Given the description of an element on the screen output the (x, y) to click on. 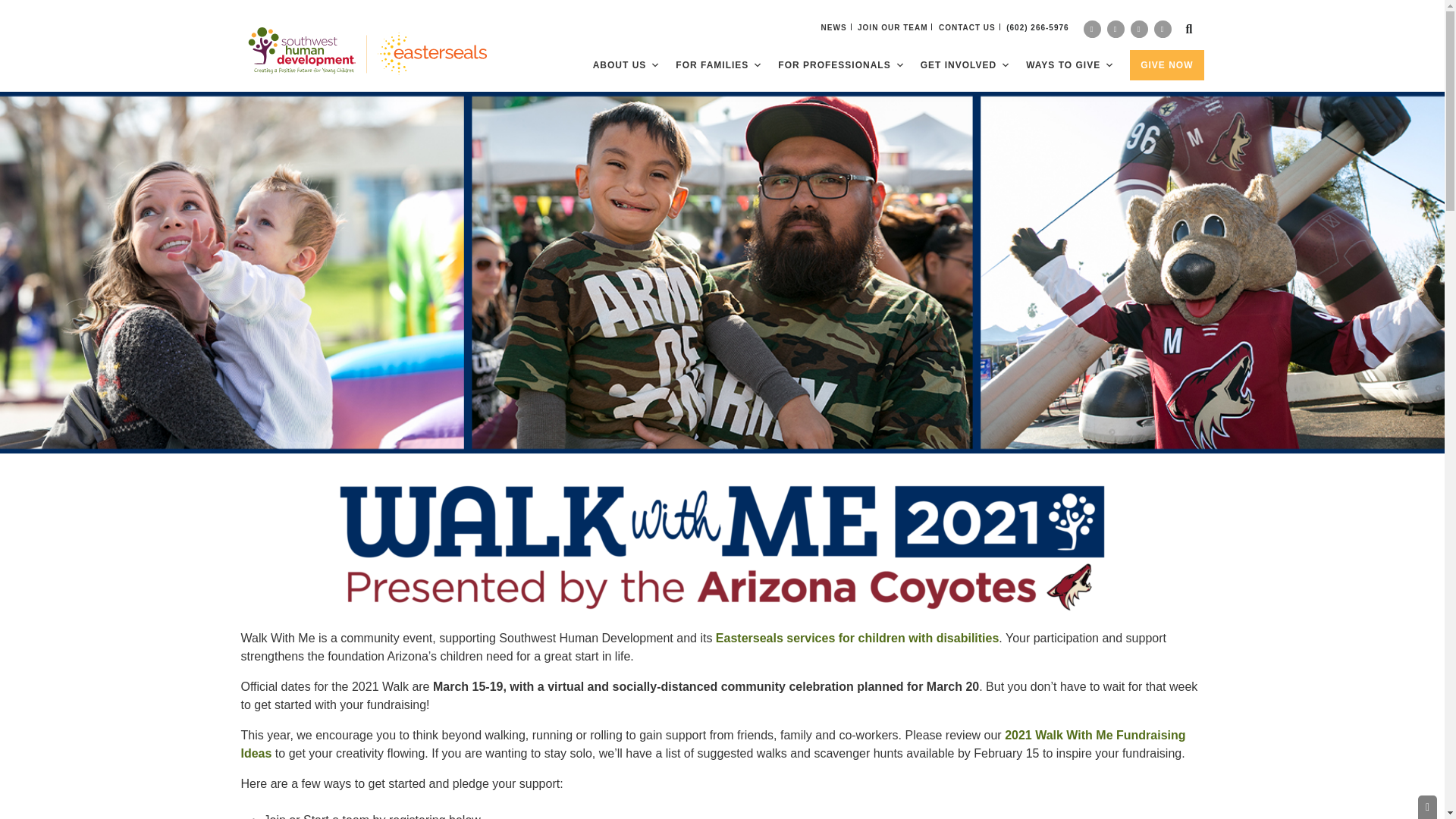
JOIN OUR TEAM (892, 27)
Instagram (1115, 28)
NEWS (834, 27)
Facebook (1091, 28)
FOR FAMILIES (719, 64)
CONTACT US (967, 27)
YouTube (1163, 28)
LinkedIn (1139, 28)
ABOUT US (626, 64)
